Given the description of an element on the screen output the (x, y) to click on. 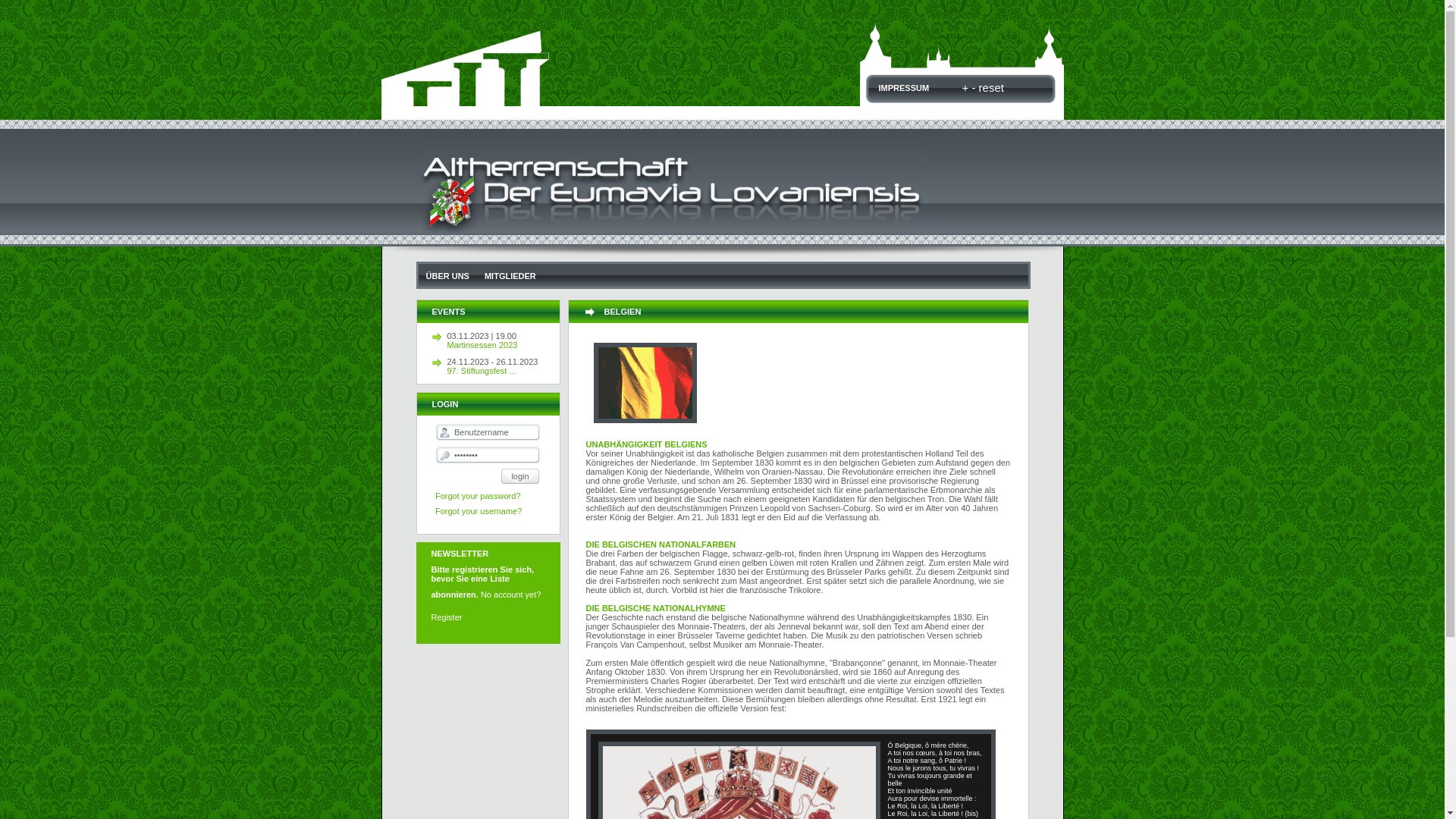
Register Element type: text (445, 616)
97. Stiftungsfest ... Element type: text (503, 370)
reset Element type: text (989, 87)
+ Element type: text (964, 87)
- Element type: text (971, 87)
Martinsessen 2023 Element type: text (503, 344)
IMPRESSUM Element type: text (903, 87)
Forgot your password? Element type: text (477, 495)
MITGLIEDER Element type: text (509, 275)
login Element type: text (520, 475)
Forgot your username? Element type: text (478, 510)
